Given the description of an element on the screen output the (x, y) to click on. 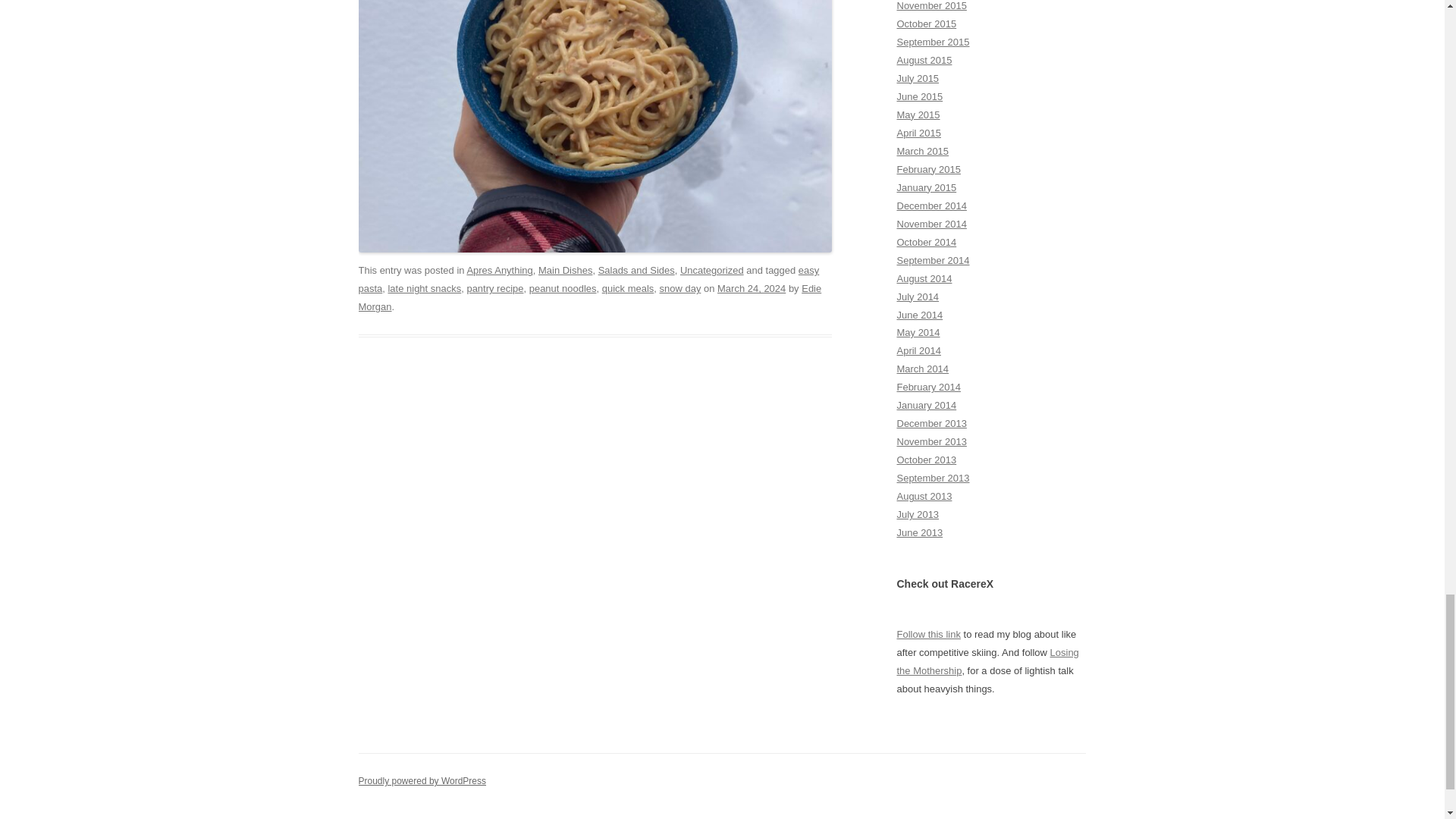
7:07 am (751, 288)
View all posts by Edie Morgan (589, 297)
Semantic Personal Publishing Platform (422, 780)
Apres Anything (498, 270)
